Given the description of an element on the screen output the (x, y) to click on. 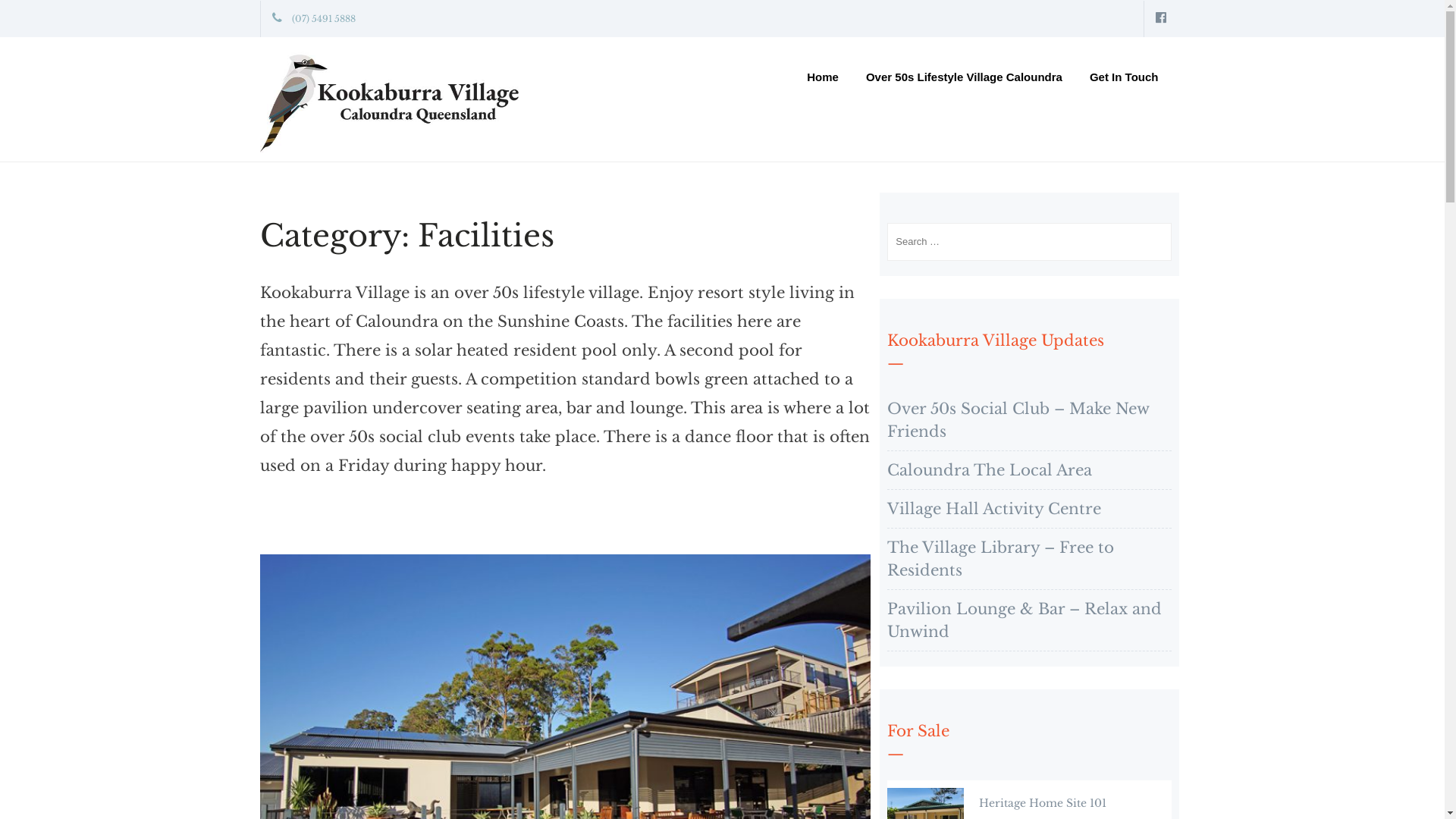
Search Element type: text (671, 18)
Caloundra The Local Area Element type: text (989, 470)
Village Hall Activity Centre Element type: text (994, 508)
Home Element type: text (822, 81)
Over 50s Lifestyle Village Caloundra Element type: text (963, 81)
Get In Touch Element type: text (1124, 81)
Heritage Home Site 101 Element type: text (1042, 802)
